Given the description of an element on the screen output the (x, y) to click on. 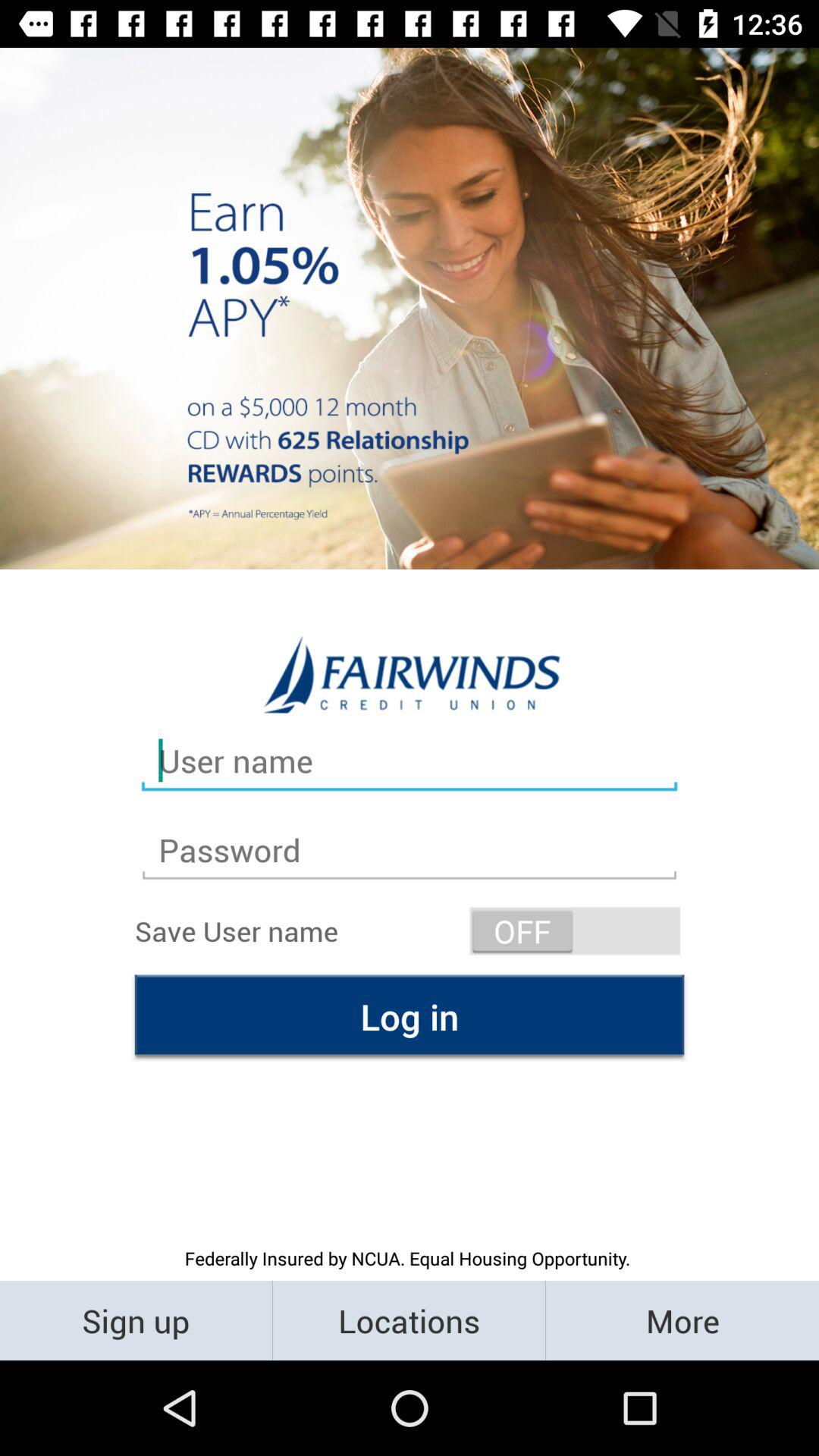
tap icon on the right (574, 930)
